Given the description of an element on the screen output the (x, y) to click on. 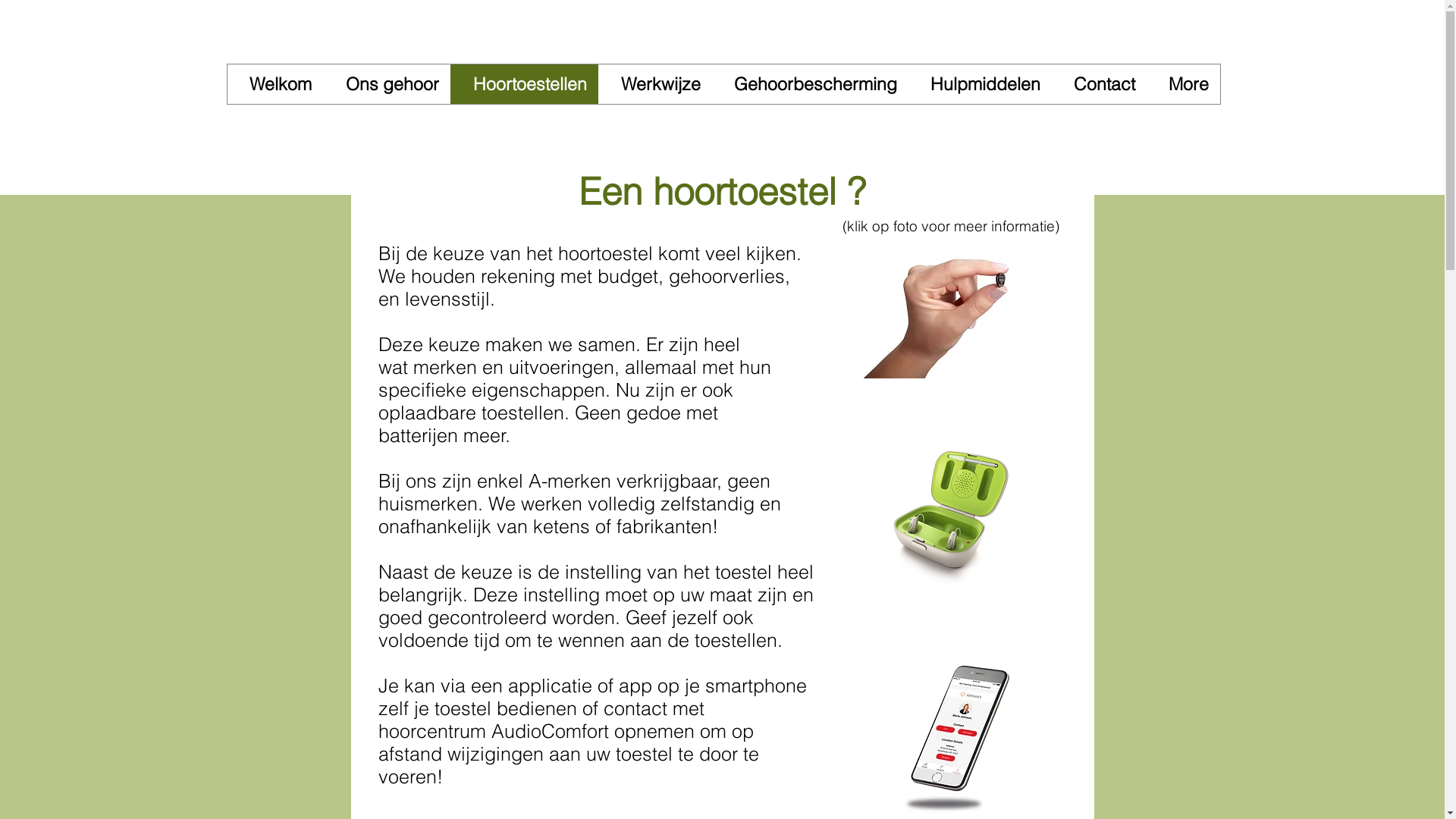
Ons gehoor Element type: text (386, 83)
Werkwijze Element type: text (654, 83)
Gehoorbescherming Element type: text (809, 83)
Contact Element type: text (1098, 83)
Welkom Element type: text (275, 83)
Hoortoestellen Element type: text (524, 83)
Hulpmiddelen Element type: text (979, 83)
